Given the description of an element on the screen output the (x, y) to click on. 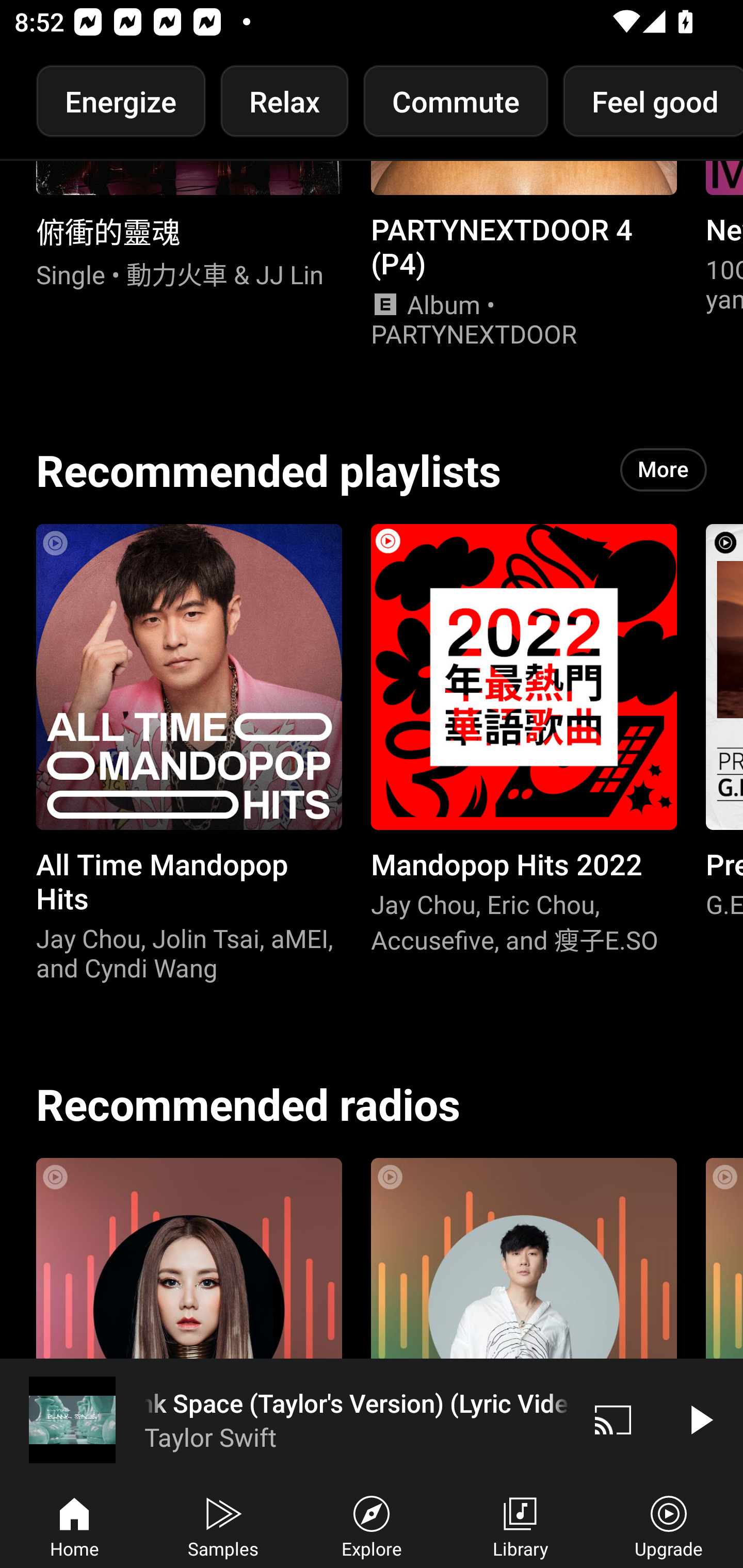
Cast. Disconnected (612, 1419)
Play video (699, 1419)
Home (74, 1524)
Samples (222, 1524)
Explore (371, 1524)
Library (519, 1524)
Upgrade (668, 1524)
